Given the description of an element on the screen output the (x, y) to click on. 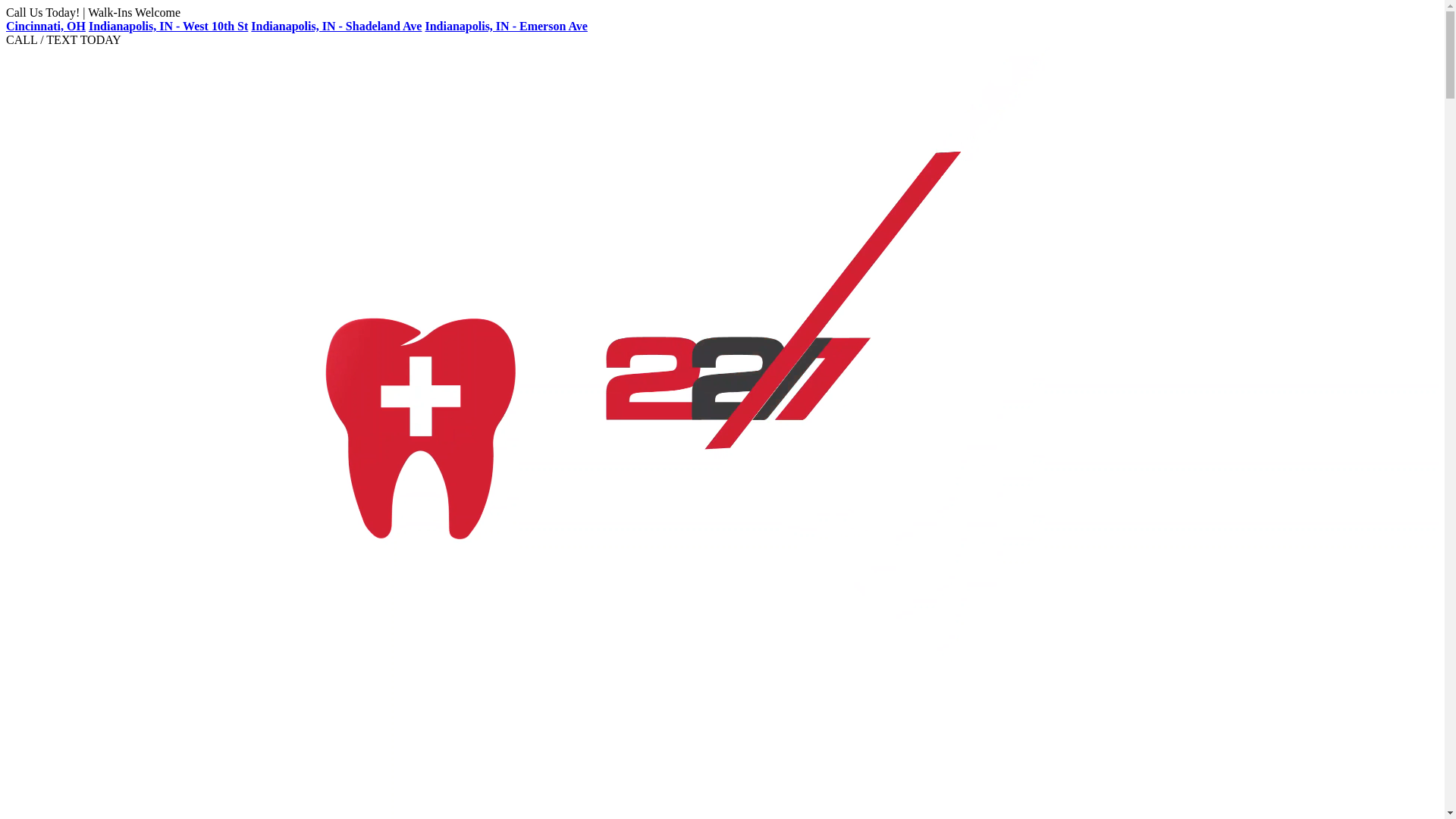
Cincinnati, OH Element type: text (45, 25)
Indianapolis, IN - West 10th St Element type: text (167, 25)
Indianapolis, IN - Shadeland Ave Element type: text (336, 25)
Indianapolis, IN - Emerson Ave Element type: text (505, 25)
